Given the description of an element on the screen output the (x, y) to click on. 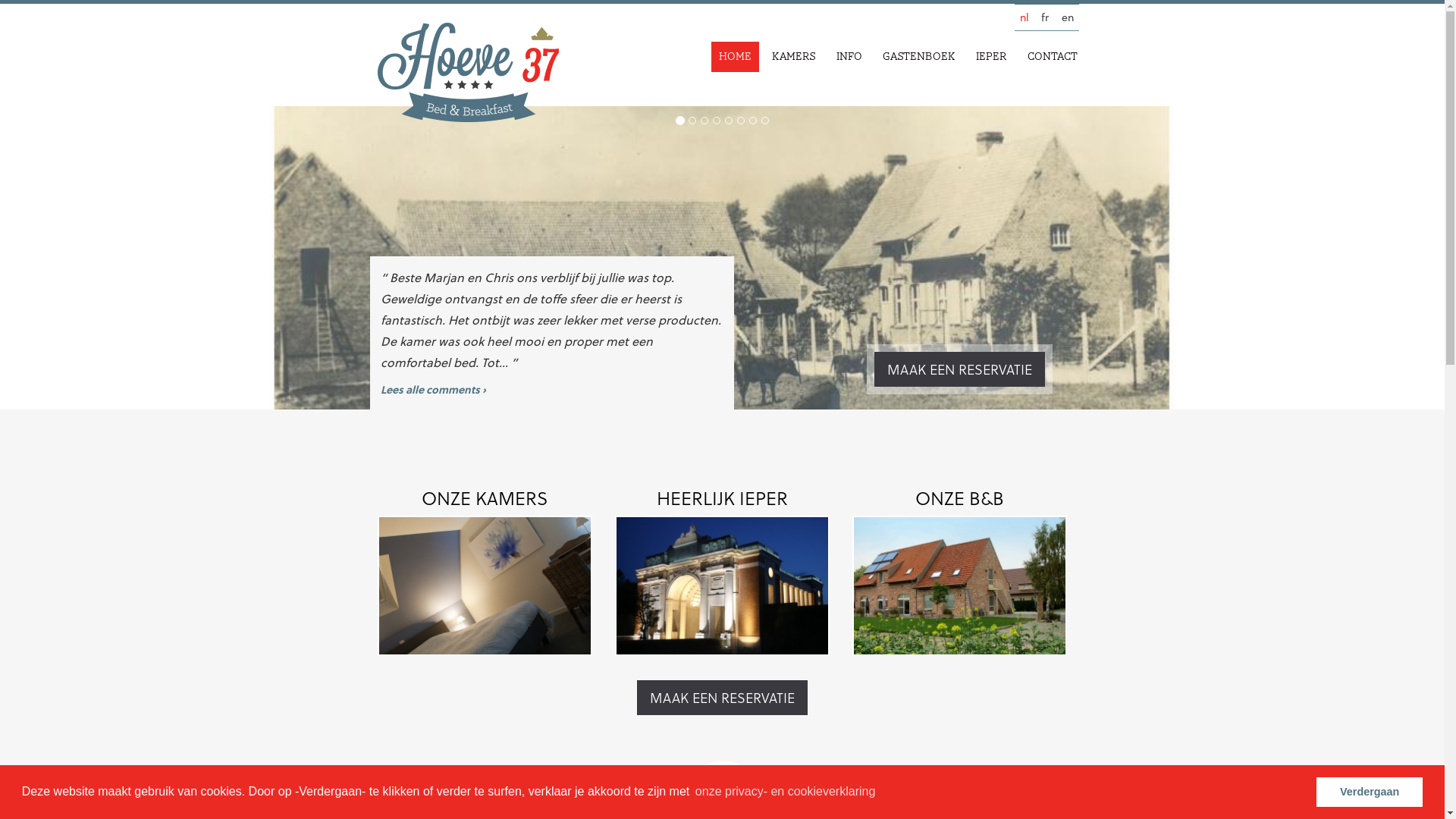
fr Element type: text (1045, 17)
nl Element type: text (1023, 17)
ONZE KAMERS Element type: text (484, 571)
Gastenboek Element type: text (919, 56)
Home Element type: text (735, 56)
Ieper Element type: text (990, 56)
ONZE B&B Element type: text (959, 571)
MAAK EEN RESERVATIE Element type: text (958, 368)
Hoeve 37 | Bed & Breakfast Element type: text (467, 72)
onze privacy- en cookieverklaring Element type: text (785, 791)
en Element type: text (1067, 17)
MAAK EEN RESERVATIE Element type: text (722, 697)
Kamers Element type: text (793, 56)
Contact Element type: text (1051, 56)
Info Element type: text (848, 56)
HEERLIJK IEPER Element type: text (722, 571)
Verdergaan Element type: text (1369, 791)
